Given the description of an element on the screen output the (x, y) to click on. 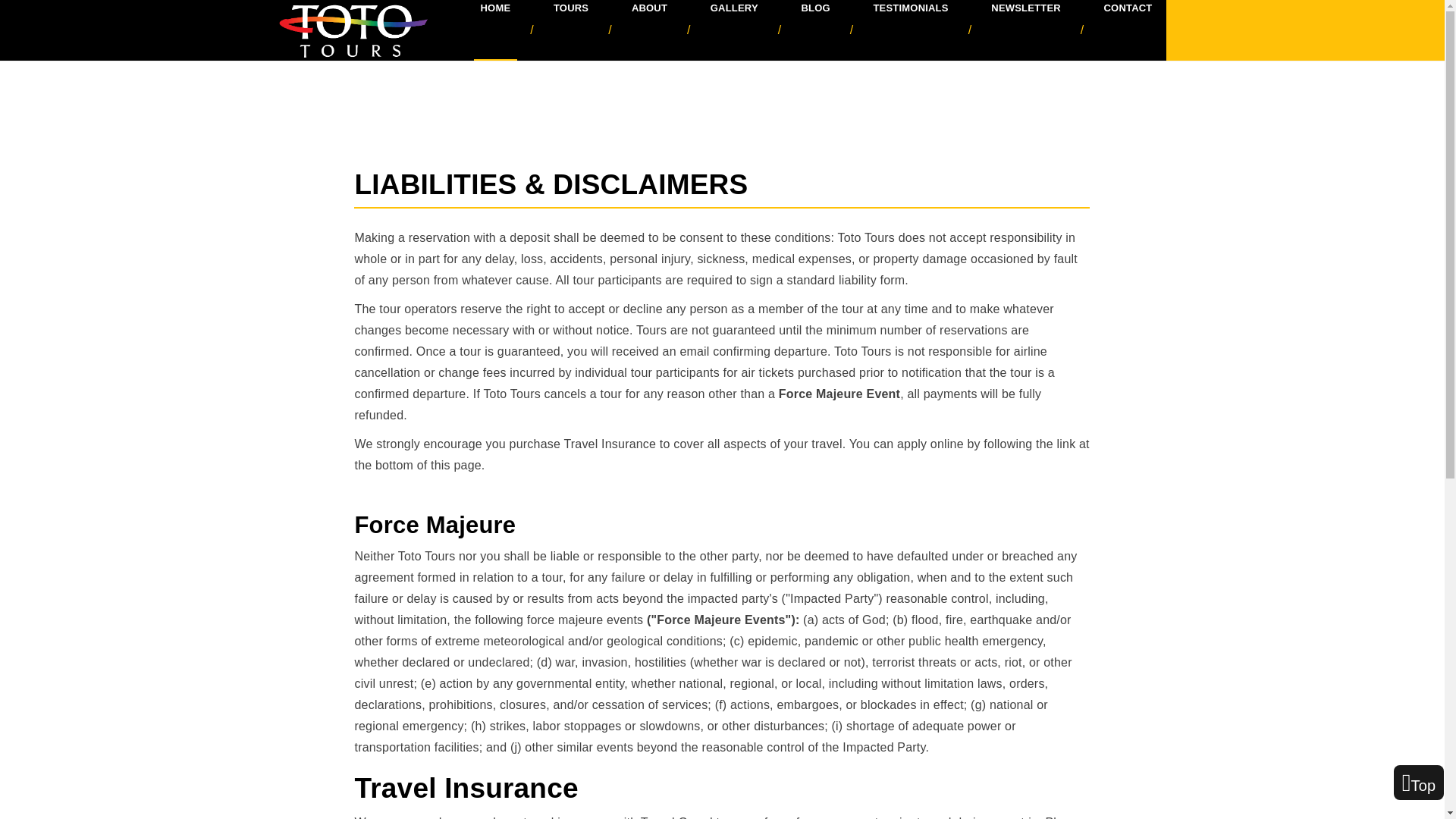
HOME (494, 8)
BLOG (815, 8)
GALLERY (734, 8)
CONTACT (1128, 8)
TESTIMONIALS (909, 8)
TESTIMONIALS (909, 8)
NEWSLETTER (1026, 8)
NEWSLETTER (1026, 8)
ABOUT (649, 8)
ABOUT (649, 8)
GALLERY (734, 8)
TOURS (570, 8)
